Given the description of an element on the screen output the (x, y) to click on. 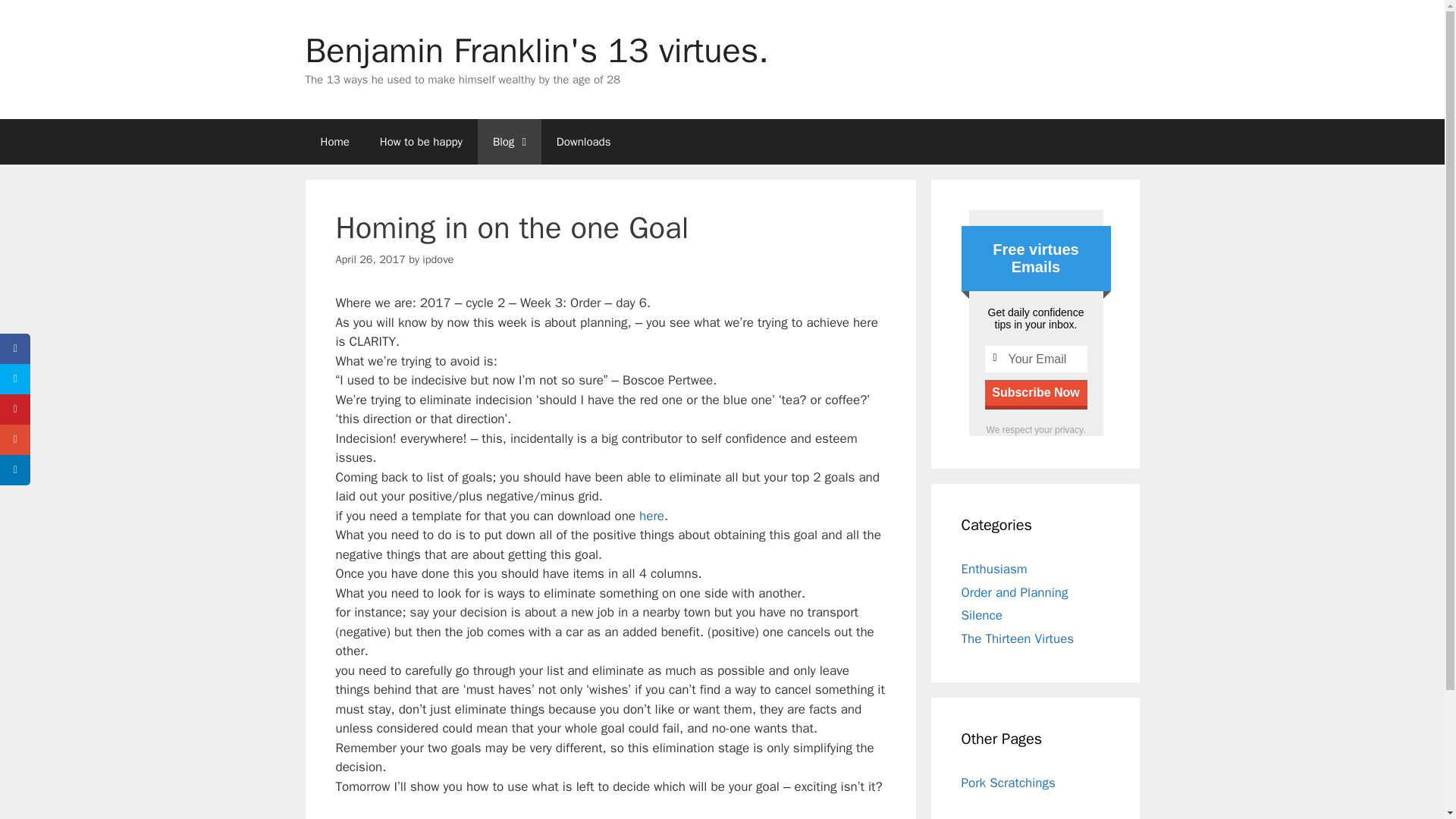
Enthusiasm (993, 569)
How to be happy (421, 140)
Benjamin Franklin's 13 virtues. (536, 50)
Downloads (583, 140)
6:46 am (369, 259)
Subscribe Now (1035, 392)
Pork Scratchings (1007, 782)
here (651, 515)
The Thirteen Virtues (1017, 638)
